Given the description of an element on the screen output the (x, y) to click on. 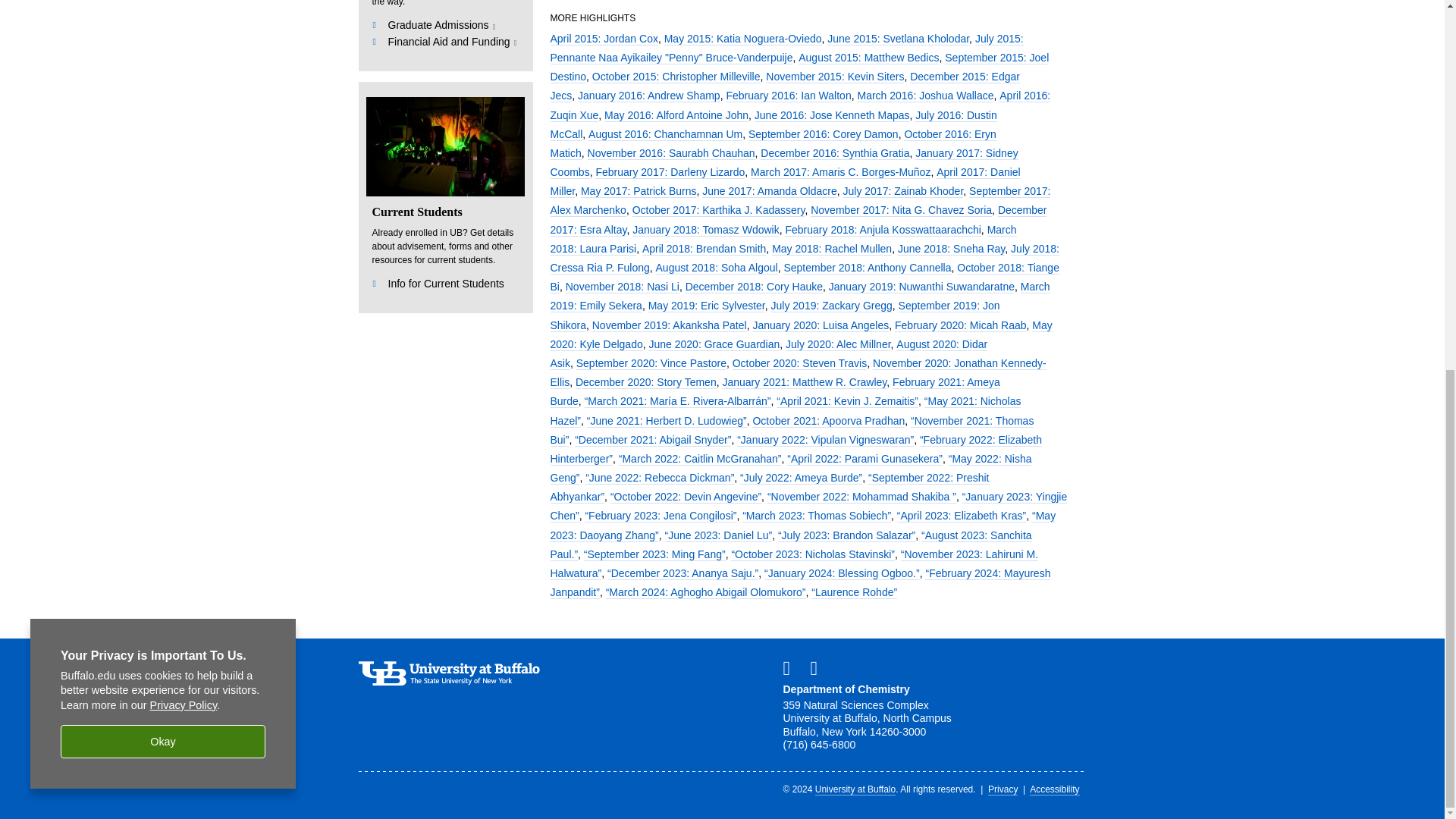
X (819, 668)
This link opens a page in a new window or tab. (442, 26)
This link opens a page in a new window or tab. (452, 42)
Facebook (792, 668)
